Given the description of an element on the screen output the (x, y) to click on. 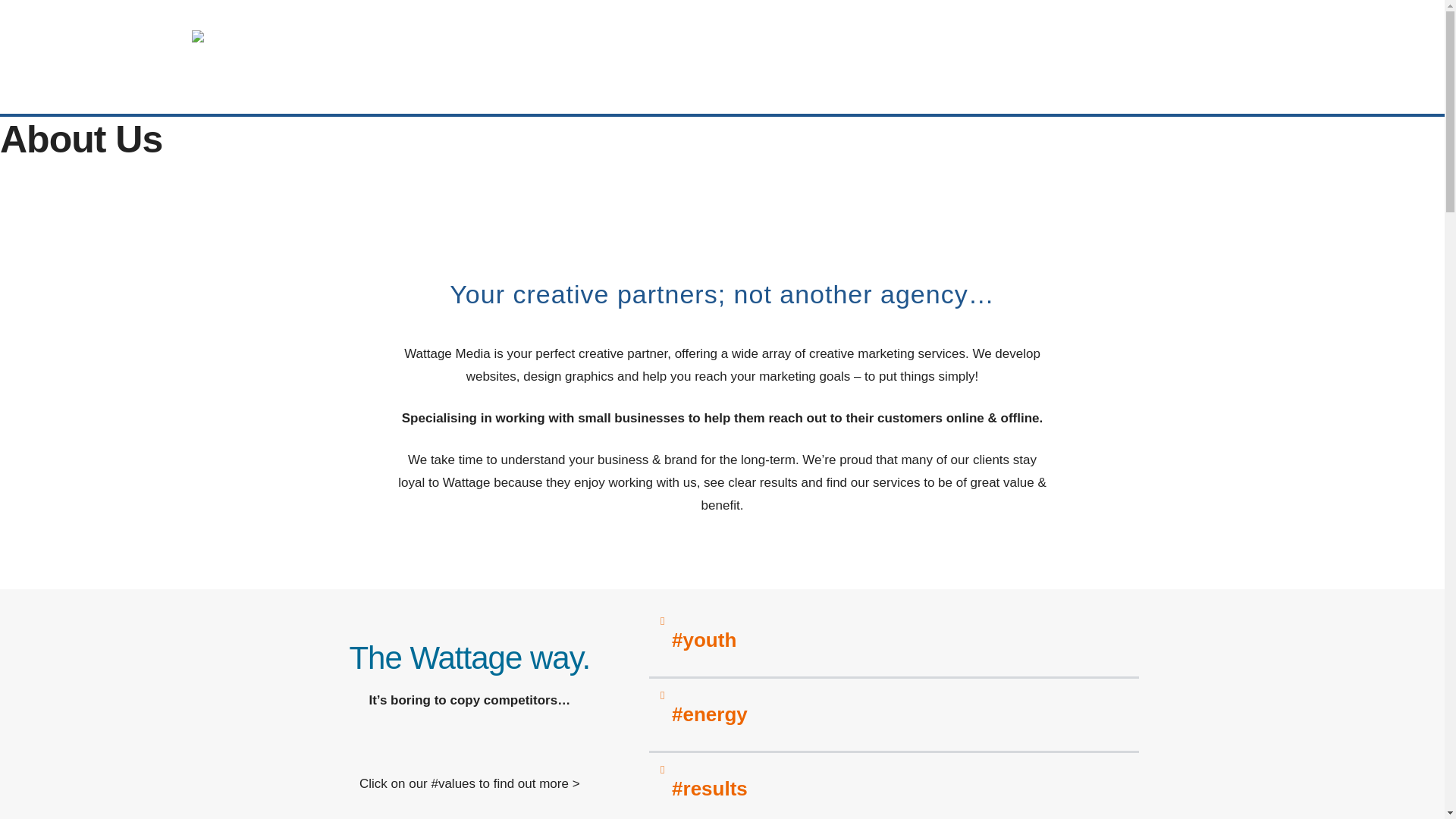
work. (1118, 65)
contact. (1205, 65)
services. (1026, 65)
about. (931, 65)
home. (845, 65)
